Given the description of an element on the screen output the (x, y) to click on. 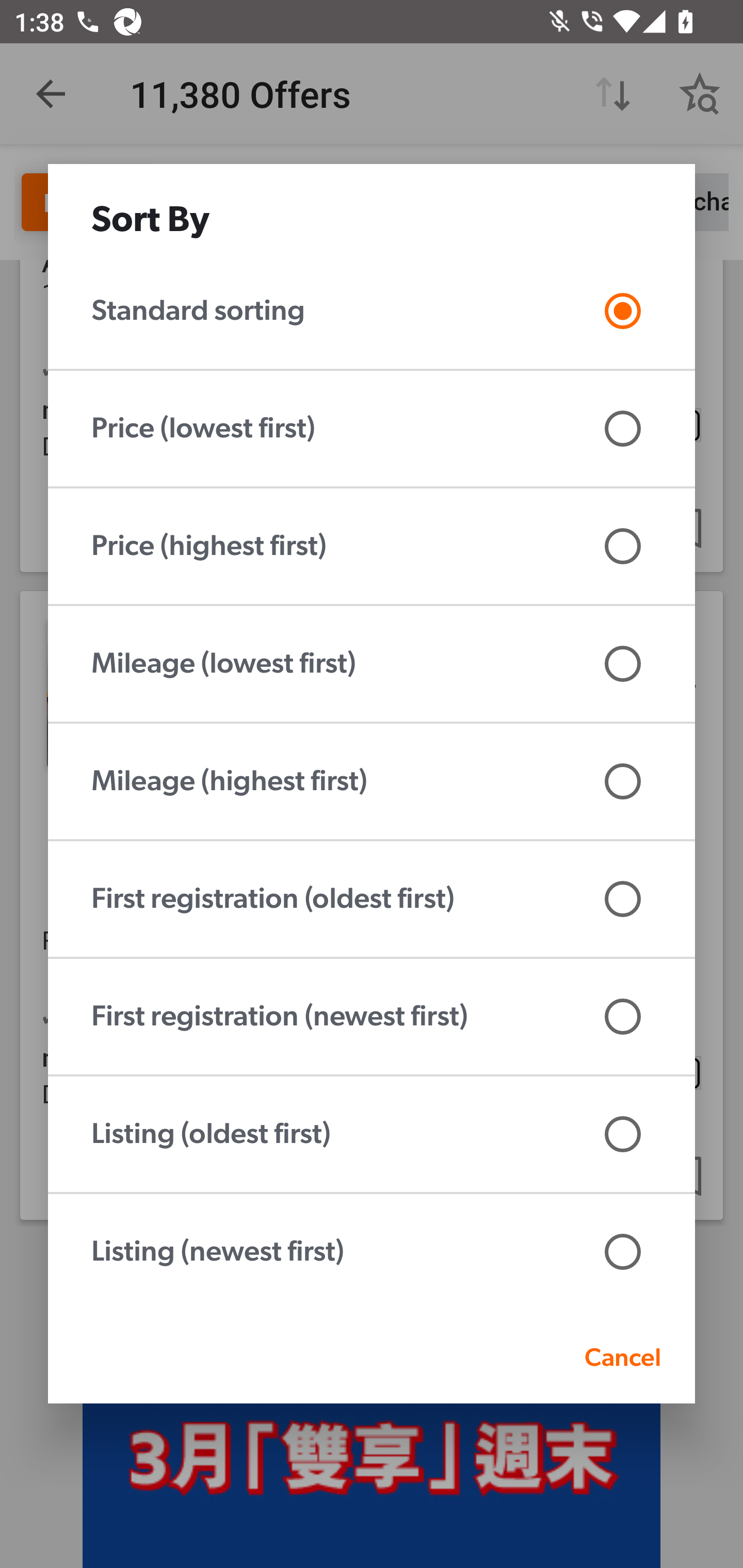
Standard sorting (371, 311)
Price (lowest first) (371, 428)
Price (highest first) (371, 546)
Mileage (lowest first) (371, 663)
Mileage (highest first) (371, 781)
First registration (oldest first) (371, 899)
First registration (newest first) (371, 1016)
Listing (oldest first) (371, 1134)
Listing (newest first) (371, 1251)
Cancel (622, 1356)
